Given the description of an element on the screen output the (x, y) to click on. 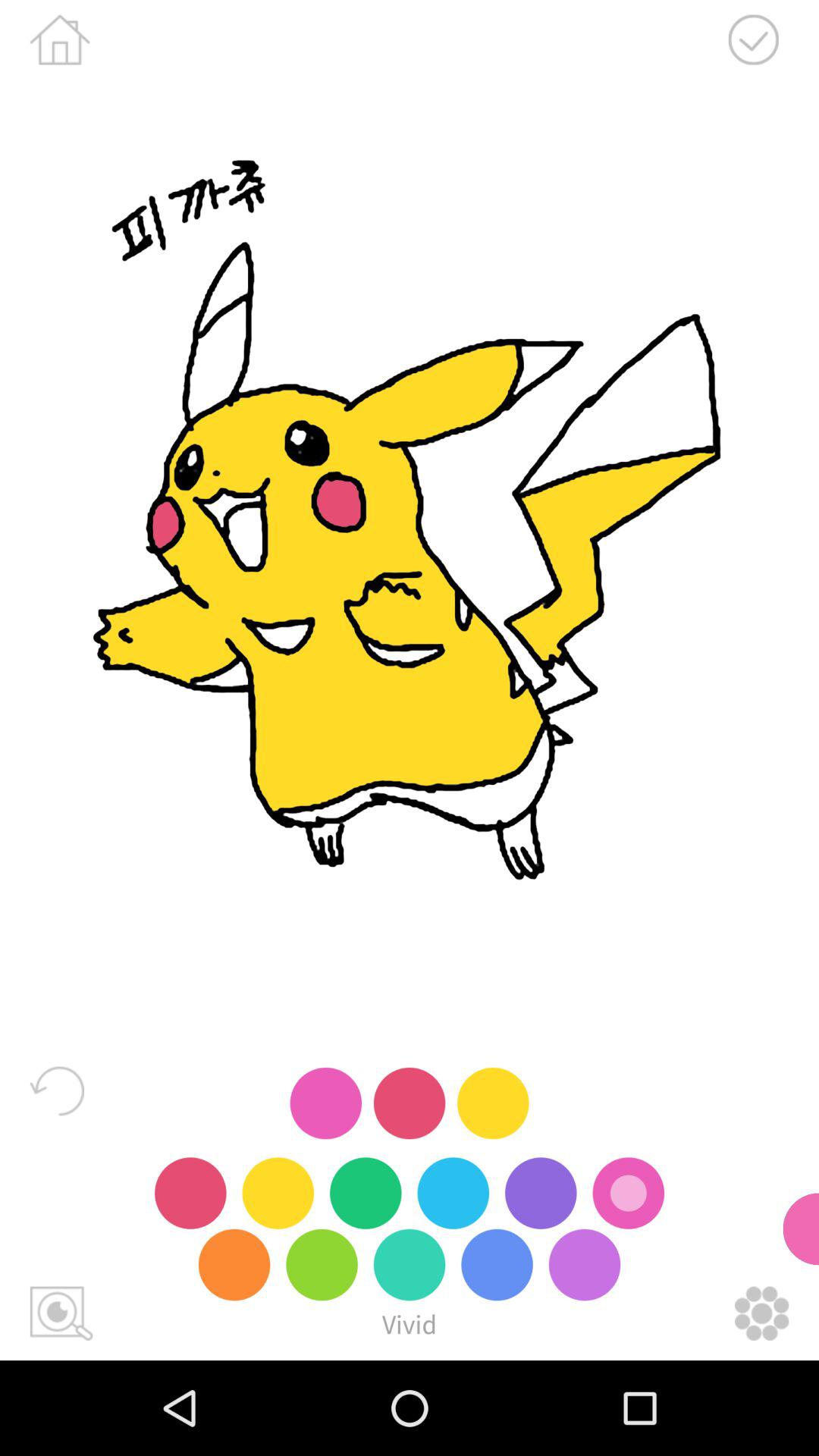
autofill drawing (61, 1313)
